Given the description of an element on the screen output the (x, y) to click on. 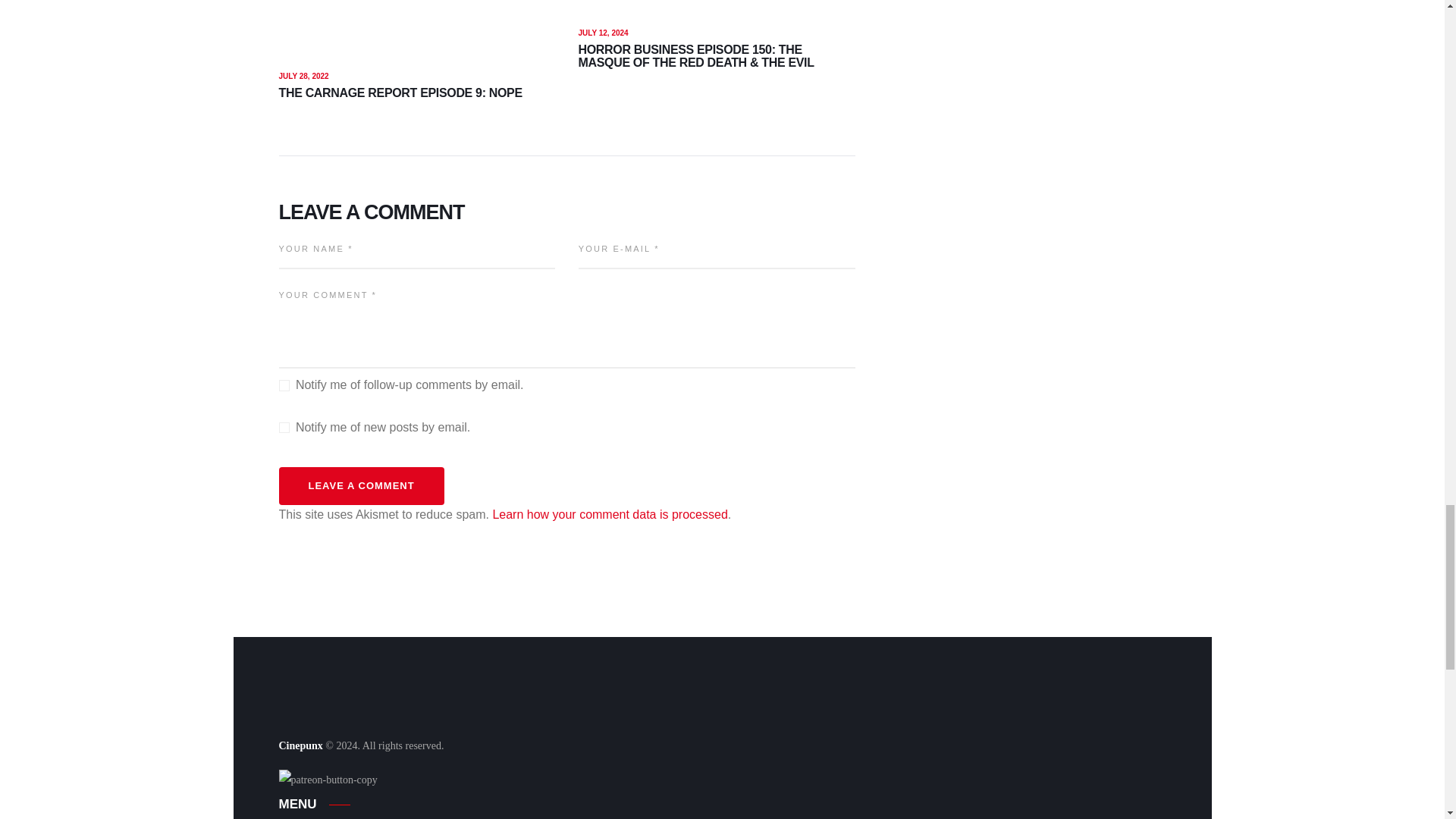
patreon-button-copy (328, 780)
Leave a comment (361, 486)
